Given the description of an element on the screen output the (x, y) to click on. 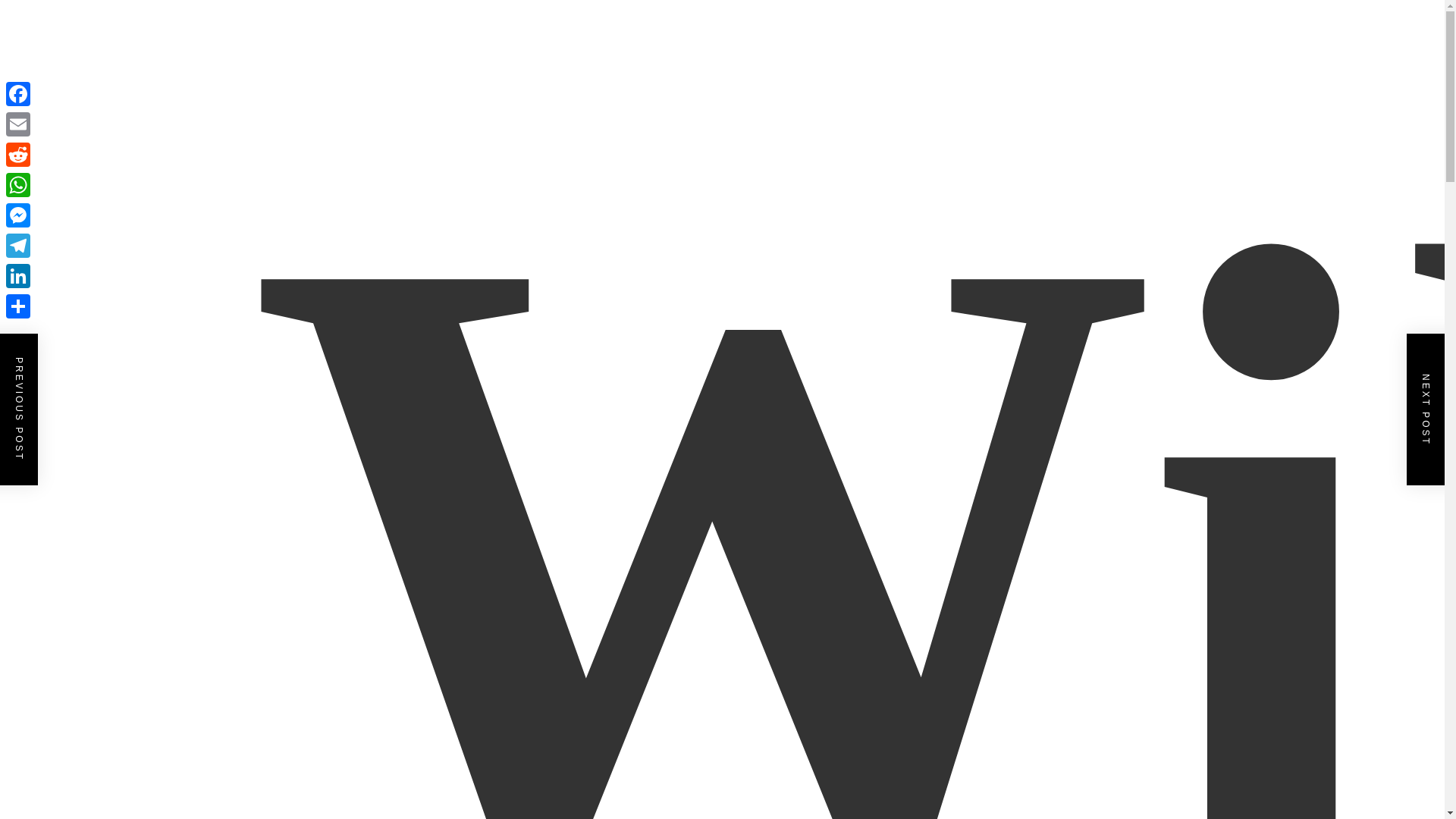
Messenger (17, 214)
Email (17, 123)
WhatsApp (17, 184)
Facebook (17, 93)
Reddit (17, 154)
